Given the description of an element on the screen output the (x, y) to click on. 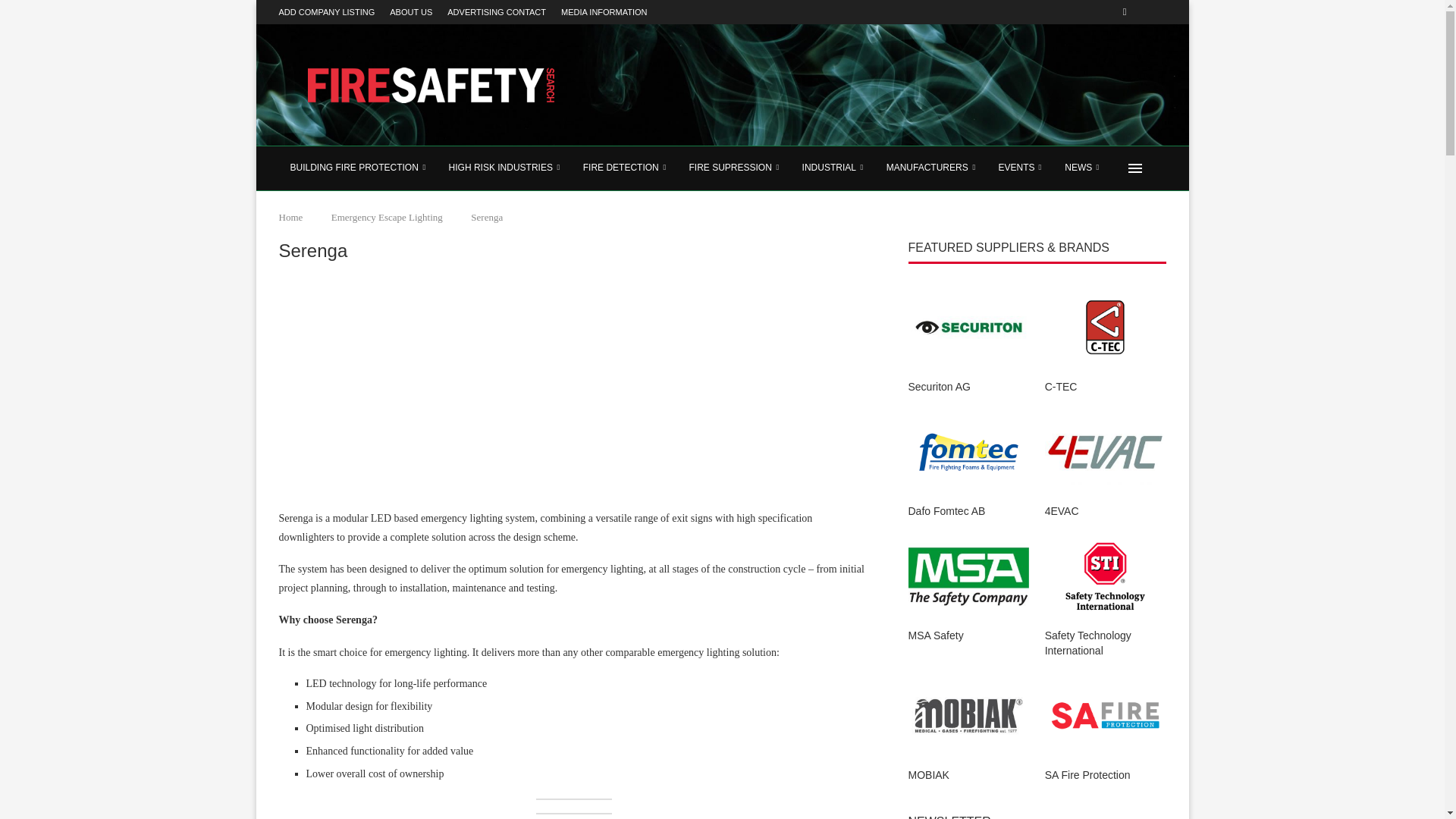
ADD COMPANY LISTING (327, 12)
MEDIA INFORMATION (603, 12)
HIGH RISK INDUSTRIES (505, 167)
Securiton AG (968, 387)
Securiton AG (968, 326)
ADVERTISING CONTACT (496, 12)
FIRE SUPRESSION (733, 167)
BUILDING FIRE PROTECTION (358, 167)
FIRE DETECTION (625, 167)
ABOUT US (411, 12)
Serenga (392, 394)
